Given the description of an element on the screen output the (x, y) to click on. 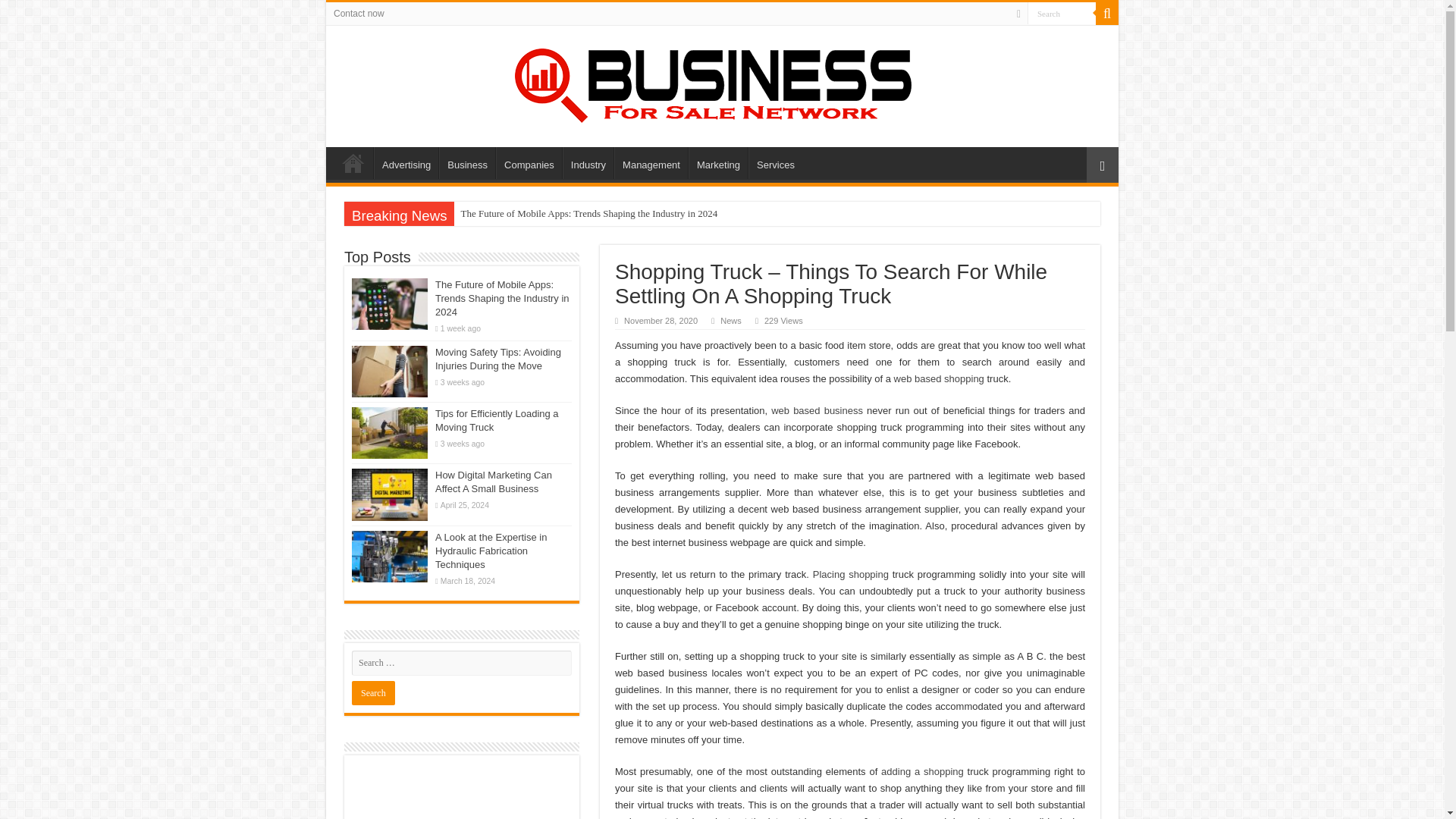
Companies (529, 163)
Management (650, 163)
Industry (587, 163)
Contact now (358, 13)
Rss (1018, 13)
Advertising (406, 163)
Services (775, 163)
adding a shopping (921, 771)
News (730, 320)
Search (1061, 13)
Search (1107, 13)
Home (352, 163)
web based shopping (938, 378)
